Given the description of an element on the screen output the (x, y) to click on. 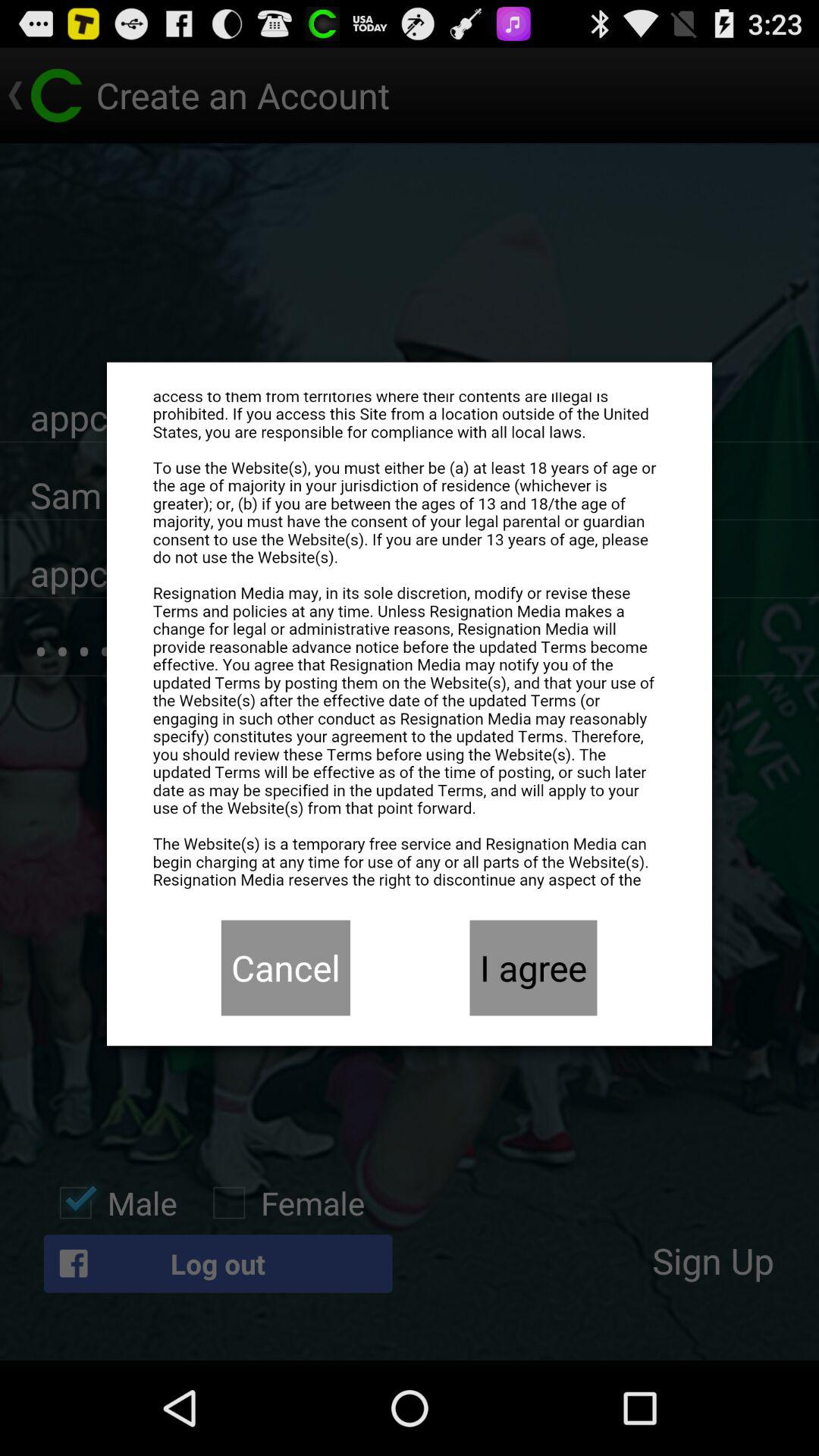
eula agreement (409, 641)
